Given the description of an element on the screen output the (x, y) to click on. 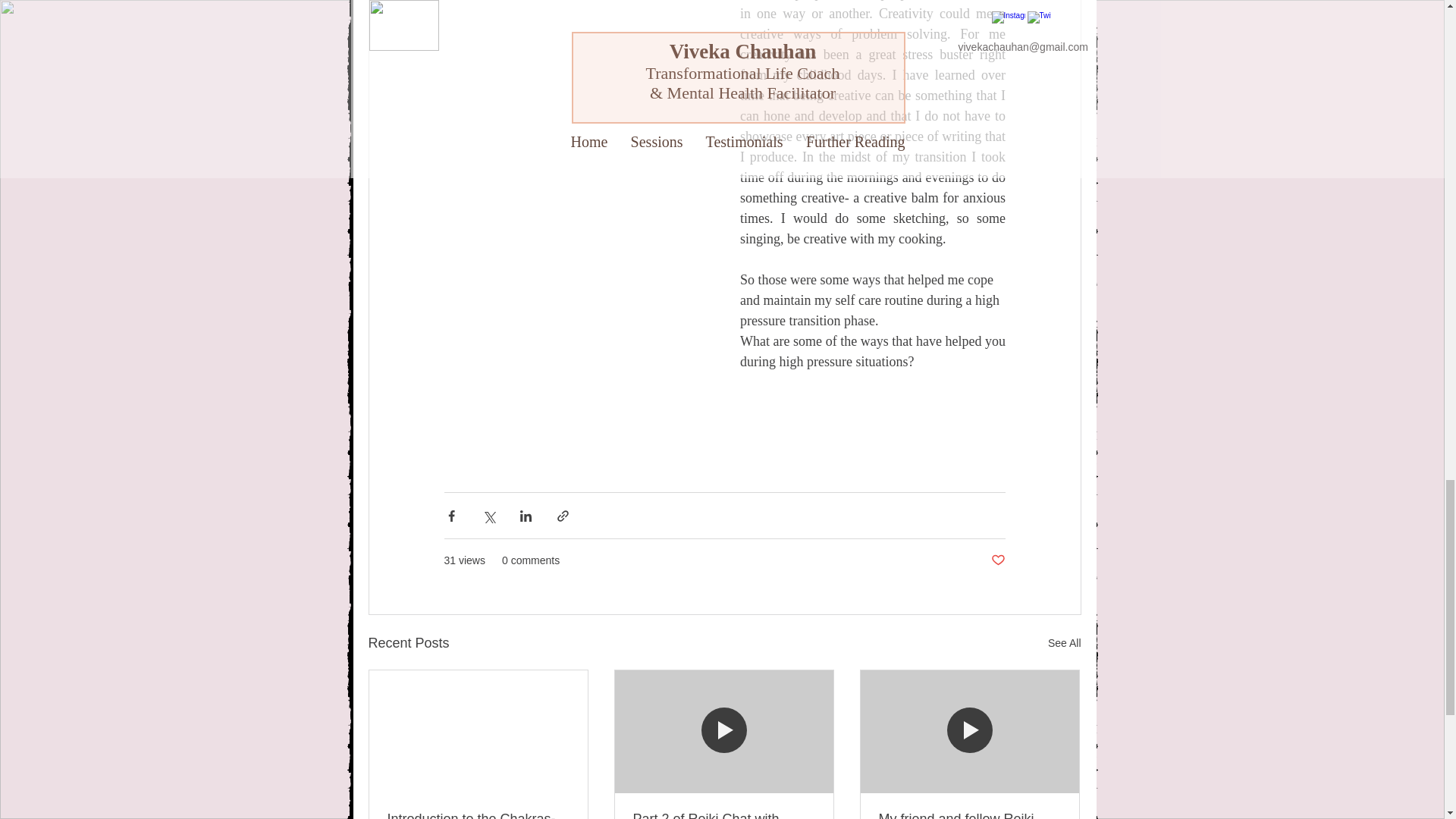
See All (1064, 643)
Part 2 of Reiki Chat with Viveka and Fiona (722, 815)
Post not marked as liked (997, 560)
Introduction to the Chakras- The Root Chakra (478, 815)
